Given the description of an element on the screen output the (x, y) to click on. 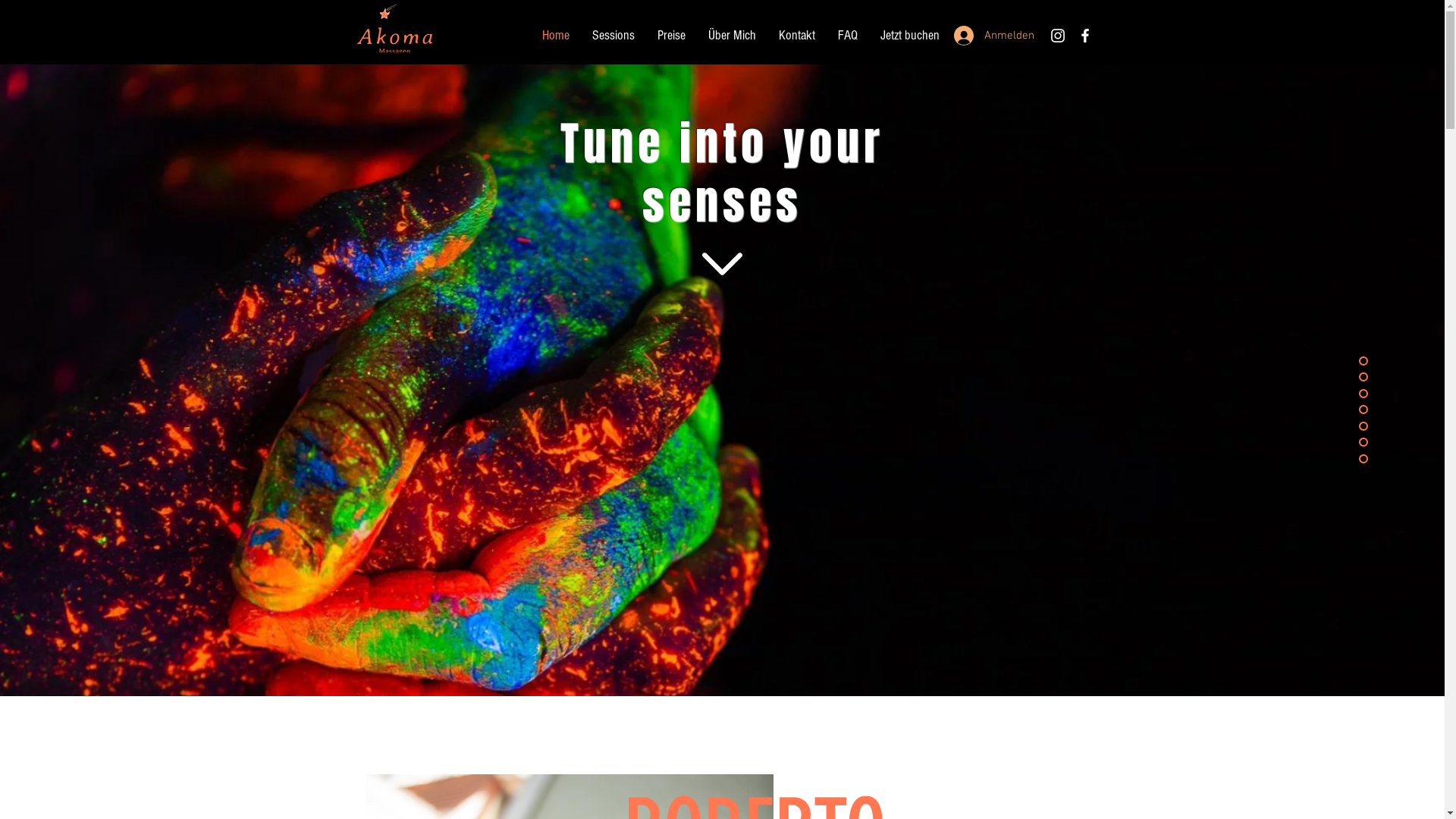
FAQ Element type: text (847, 35)
Kontakt Element type: text (796, 35)
Preise Element type: text (671, 35)
Home Element type: text (555, 35)
Anmelden Element type: text (988, 35)
Sessions Element type: text (613, 35)
Jetzt buchen Element type: text (909, 35)
